Given the description of an element on the screen output the (x, y) to click on. 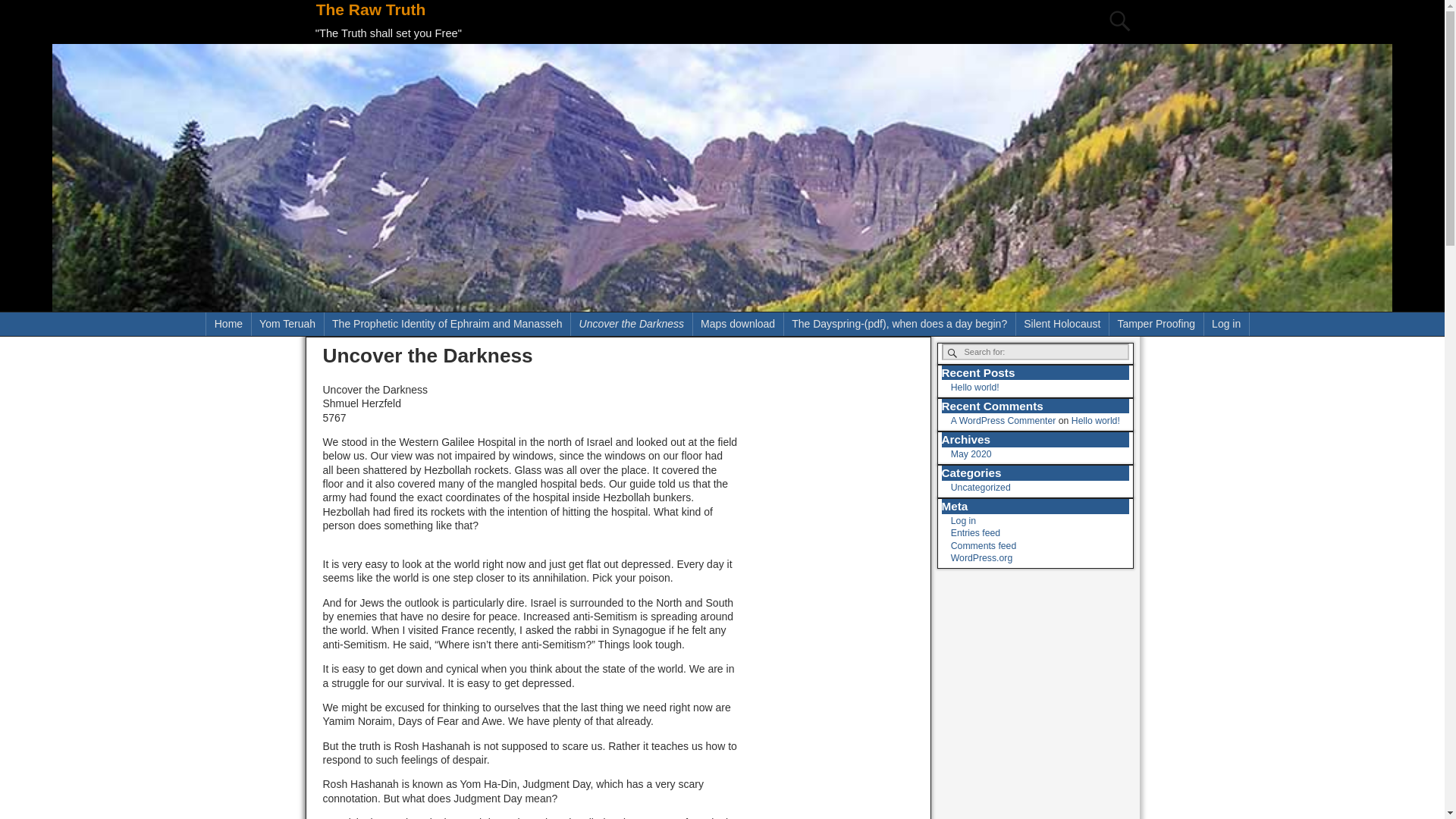
Tamper Proofing (1156, 323)
May 2020 (970, 453)
Hello world! (1095, 420)
Silent Holocaust (1062, 323)
WordPress.org (980, 557)
Yom Teruah (287, 323)
Uncategorized (980, 487)
Entries feed (975, 532)
Hello world! (974, 387)
Home (228, 323)
